Given the description of an element on the screen output the (x, y) to click on. 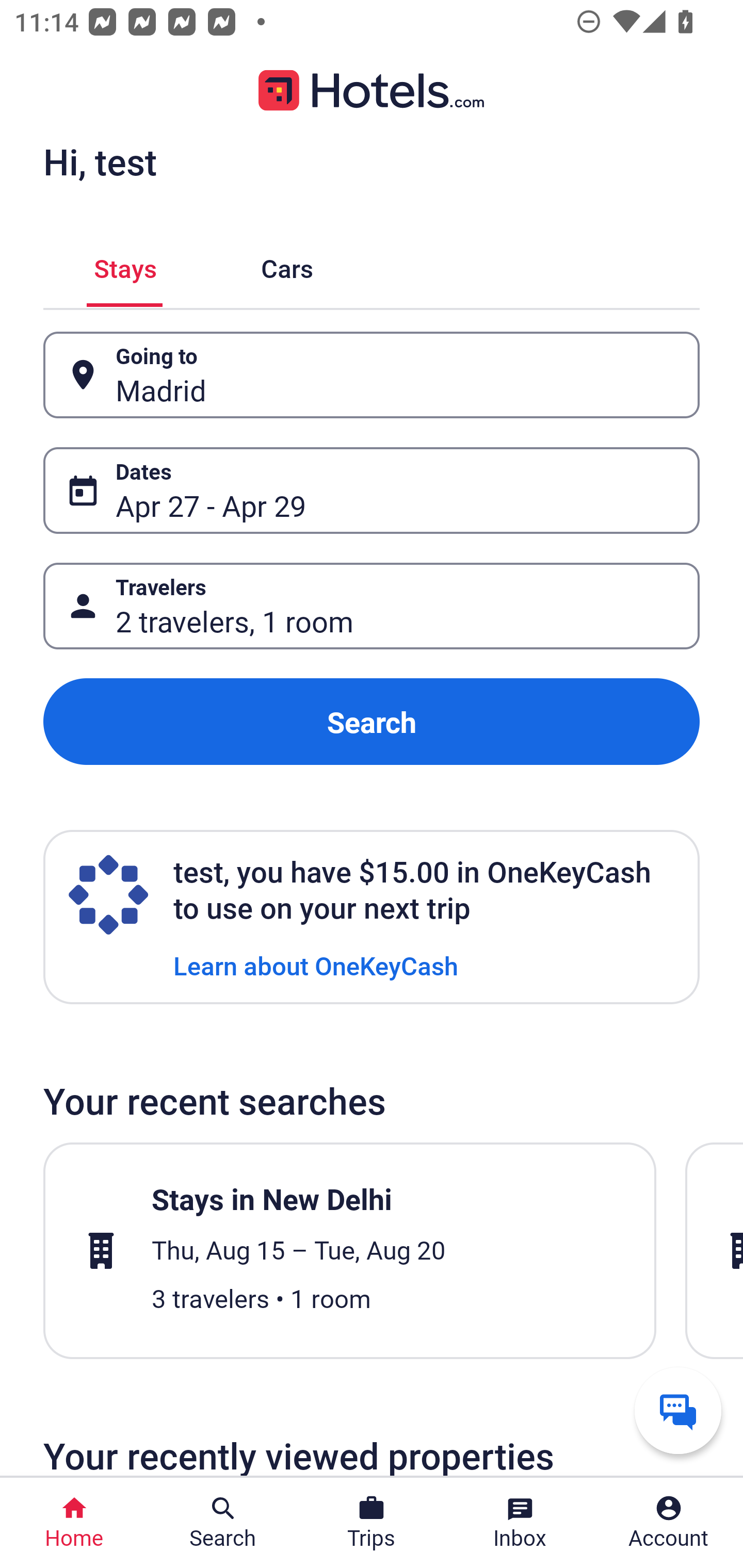
Hi, test (99, 161)
Cars (286, 265)
Going to Button Madrid (371, 375)
Dates Button Apr 27 - Apr 29 (371, 489)
Travelers Button 2 travelers, 1 room (371, 605)
Search (371, 721)
Learn about OneKeyCash Learn about OneKeyCash Link (315, 964)
Get help from a virtual agent (677, 1410)
Search Search Button (222, 1522)
Trips Trips Button (371, 1522)
Inbox Inbox Button (519, 1522)
Account Profile. Button (668, 1522)
